Given the description of an element on the screen output the (x, y) to click on. 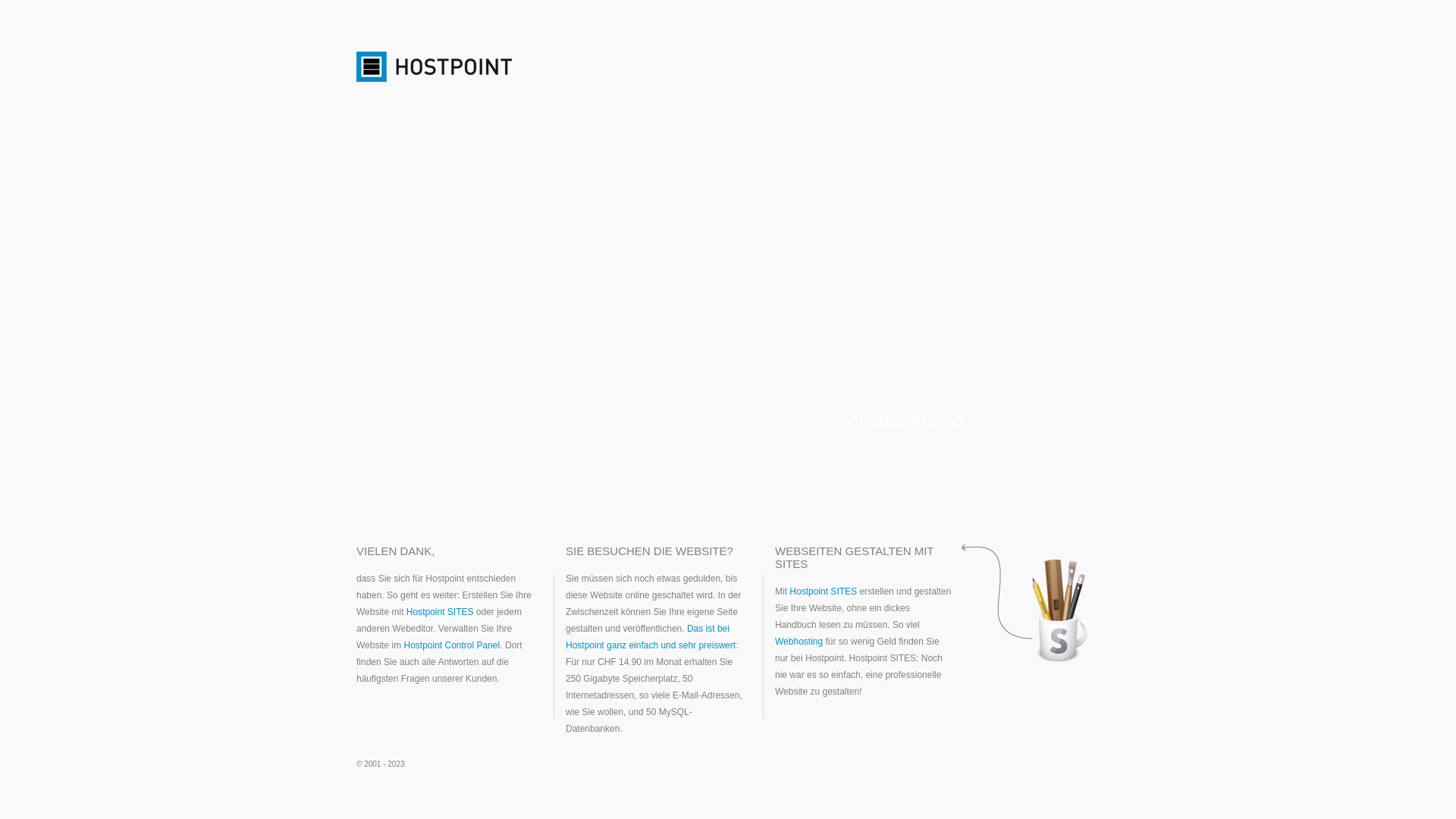
Hostpoint SITES Element type: text (439, 611)
Webhosting Element type: text (798, 641)
Hostpoint SITES Element type: text (822, 591)
Das ist bei Hostpoint ganz einfach und sehr preiswert Element type: text (650, 636)
Hostpoint Control Panel Element type: text (451, 645)
